Given the description of an element on the screen output the (x, y) to click on. 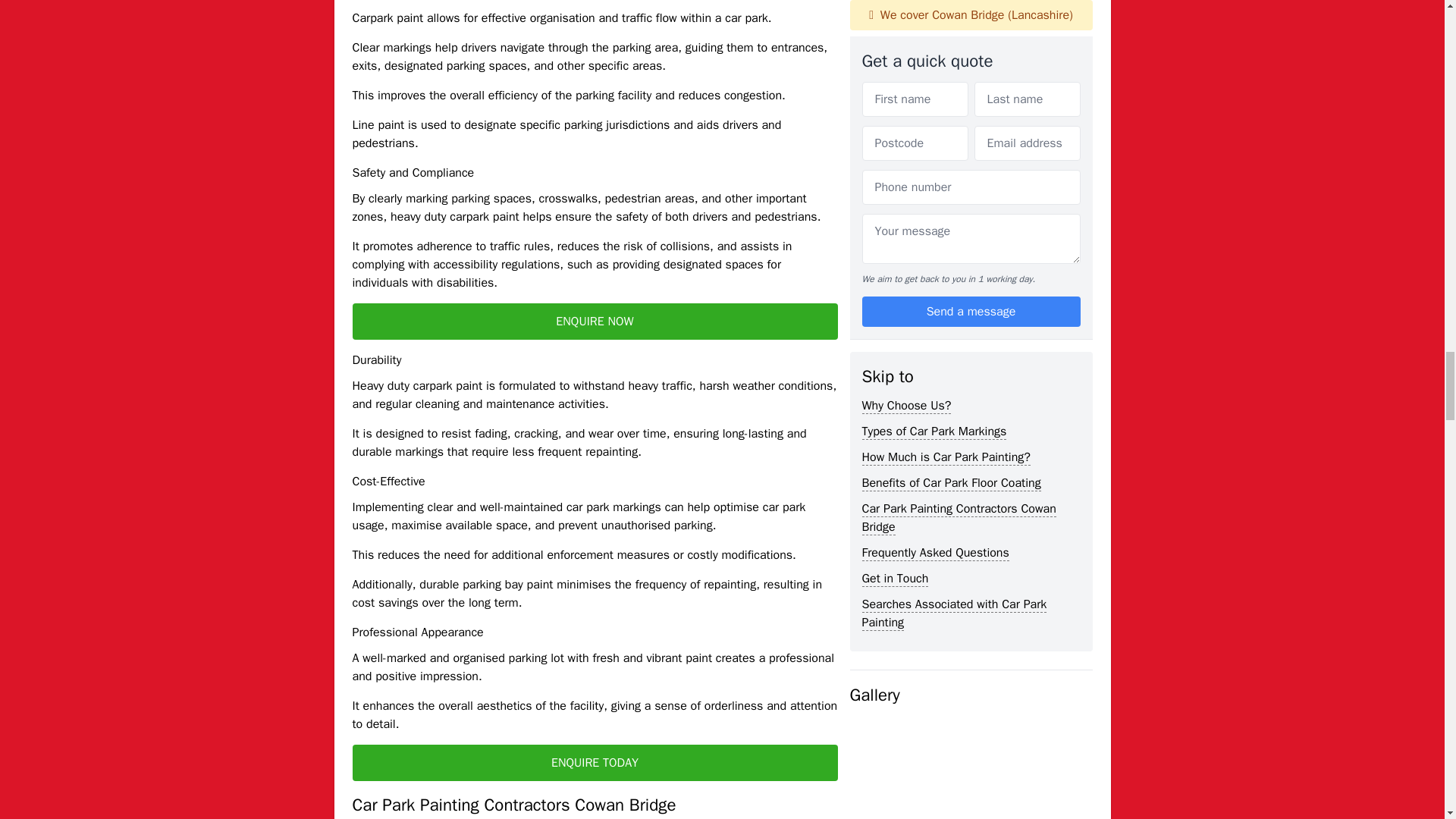
ENQUIRE NOW (594, 321)
ENQUIRE TODAY (594, 762)
